Given the description of an element on the screen output the (x, y) to click on. 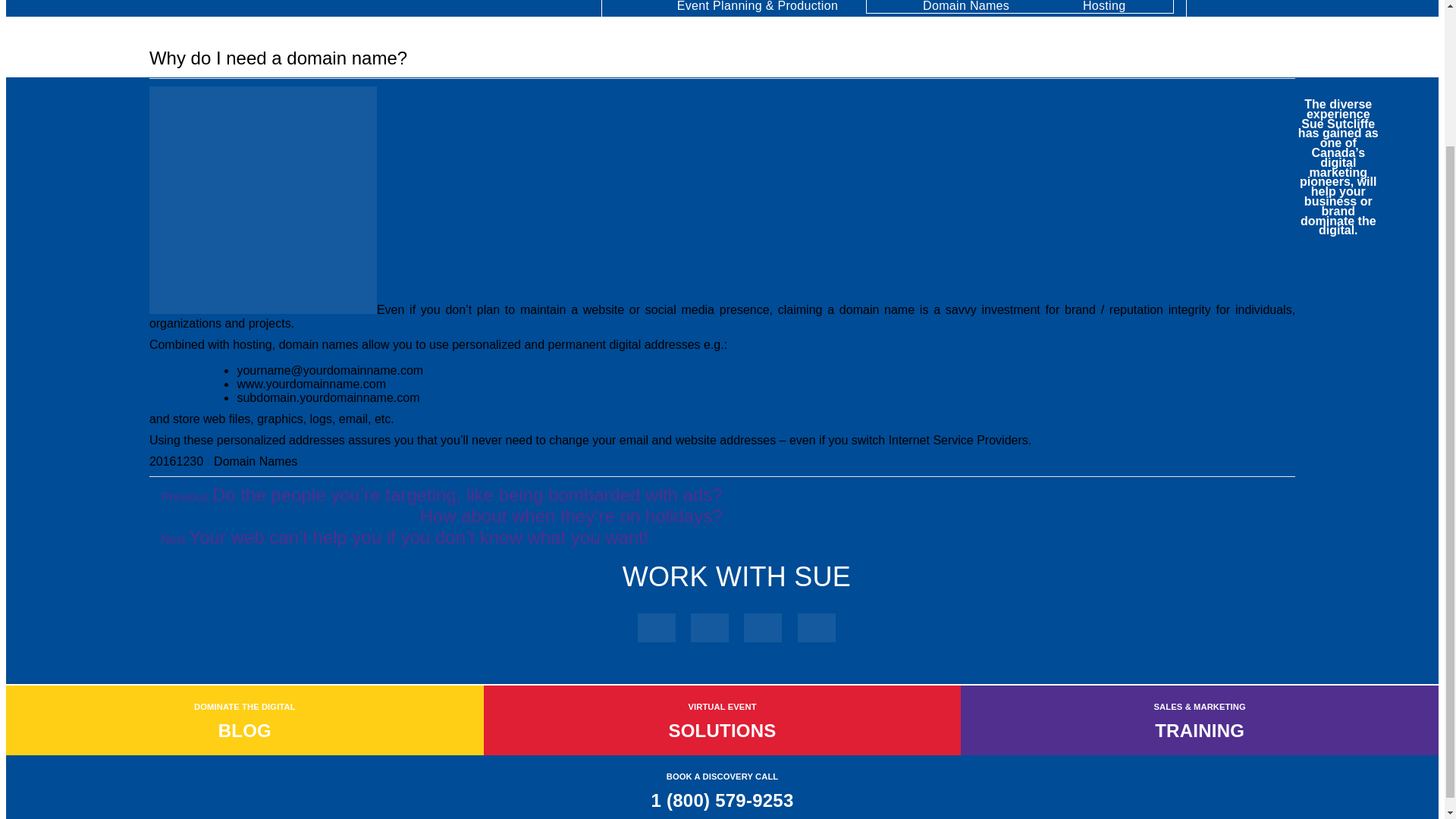
Testimonials (507, 0)
Domain Names (255, 461)
Domain Names (965, 7)
Hosting (1103, 7)
Dominate The Digital (1312, 0)
Websites (1020, 0)
WORK WITH SUE (736, 576)
20161230 (176, 461)
